Given the description of an element on the screen output the (x, y) to click on. 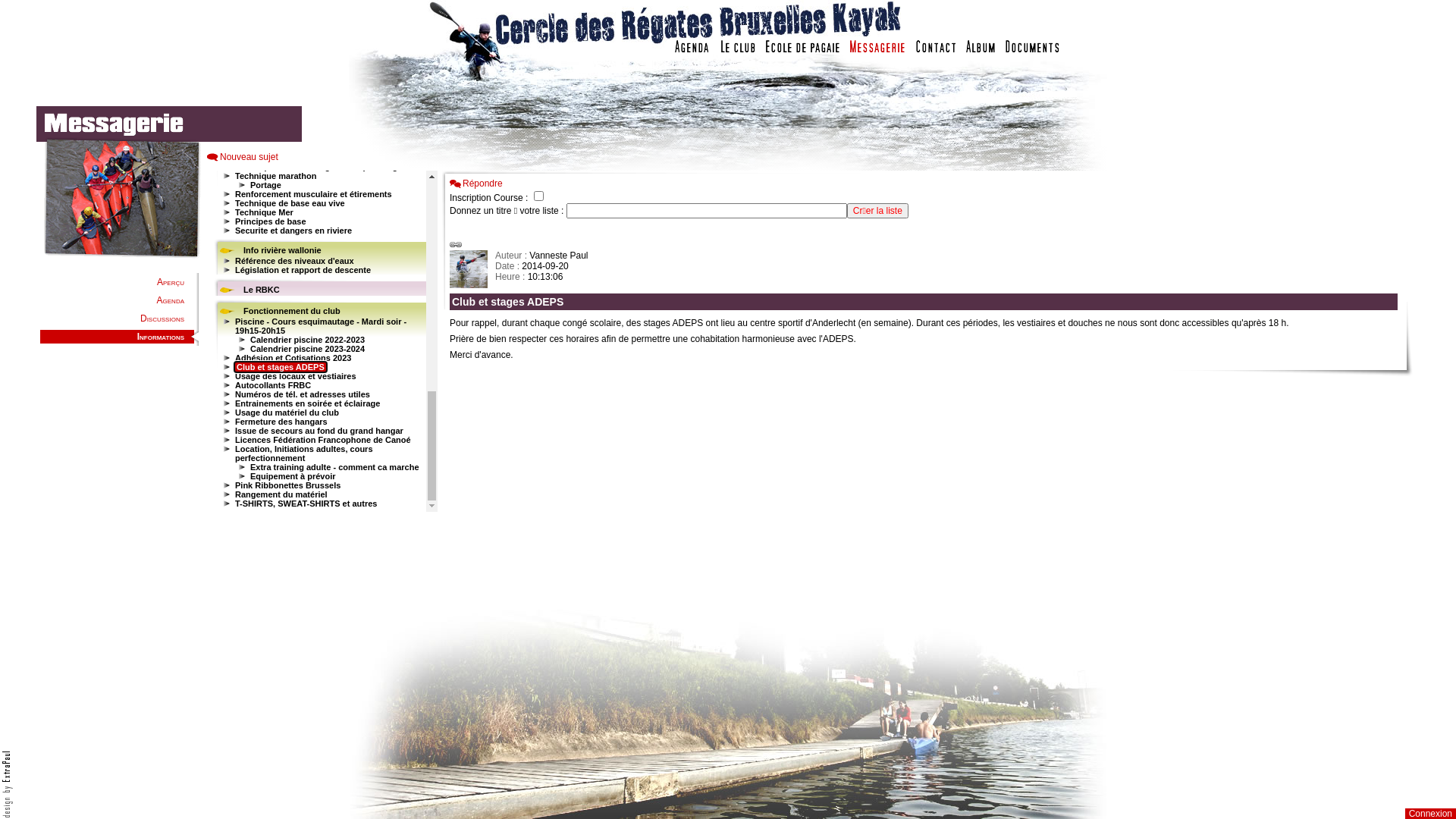
Agenda Element type: text (170, 299)
Discussions Element type: text (162, 318)
Nouveau sujet Element type: text (242, 156)
